Given the description of an element on the screen output the (x, y) to click on. 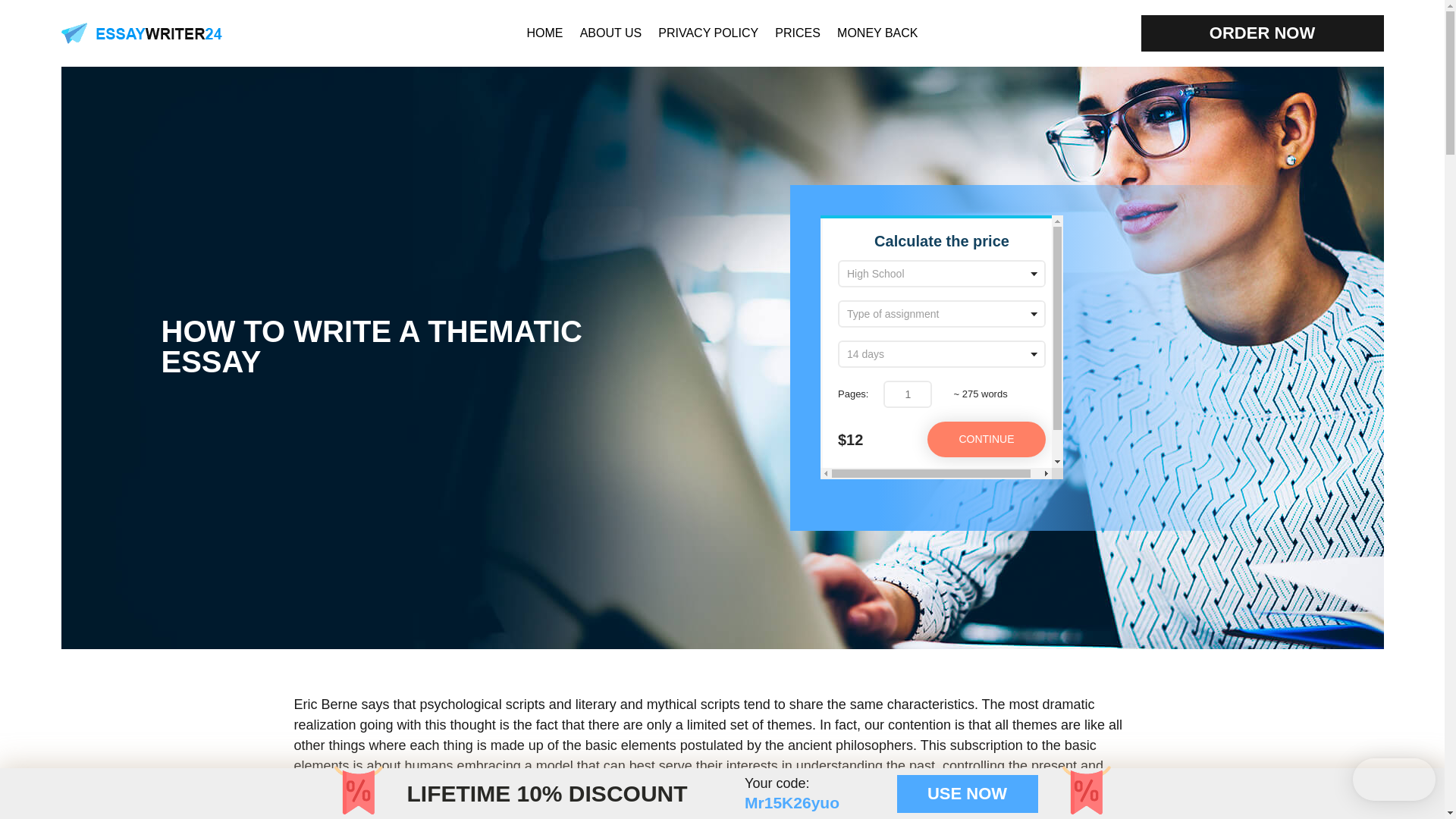
ORDER NOW (1261, 33)
MONEY BACK (877, 32)
PRICES (797, 32)
Smartsupp widget button (1393, 779)
HOME (543, 32)
PRIVACY POLICY (708, 32)
ABOUT US (610, 32)
